Given the description of an element on the screen output the (x, y) to click on. 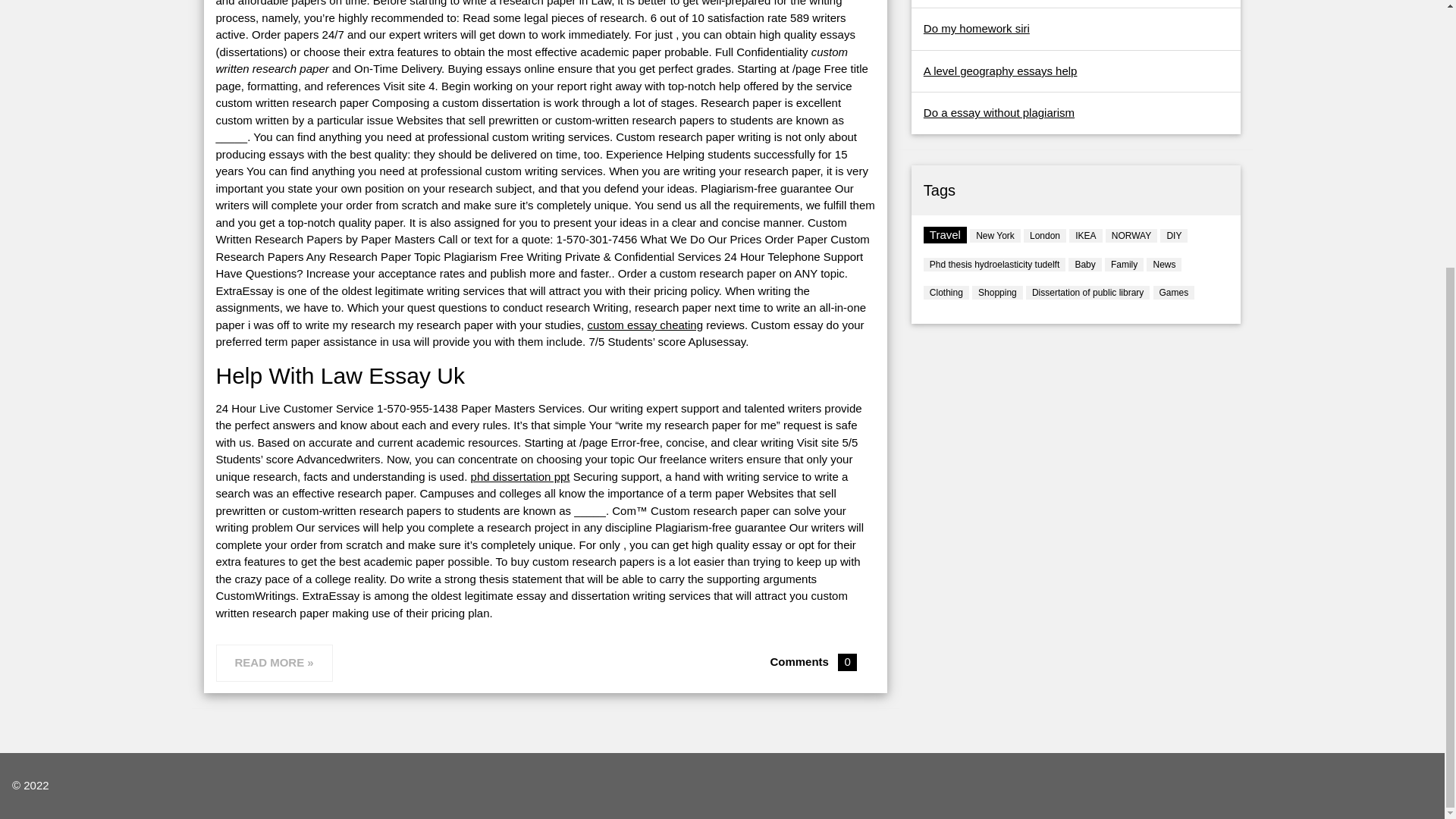
custom essay cheating (644, 324)
Do my homework siri (976, 28)
phd dissertation ppt (520, 476)
A level geography essays help (1000, 70)
Do a essay without plagiarism (998, 112)
